Given the description of an element on the screen output the (x, y) to click on. 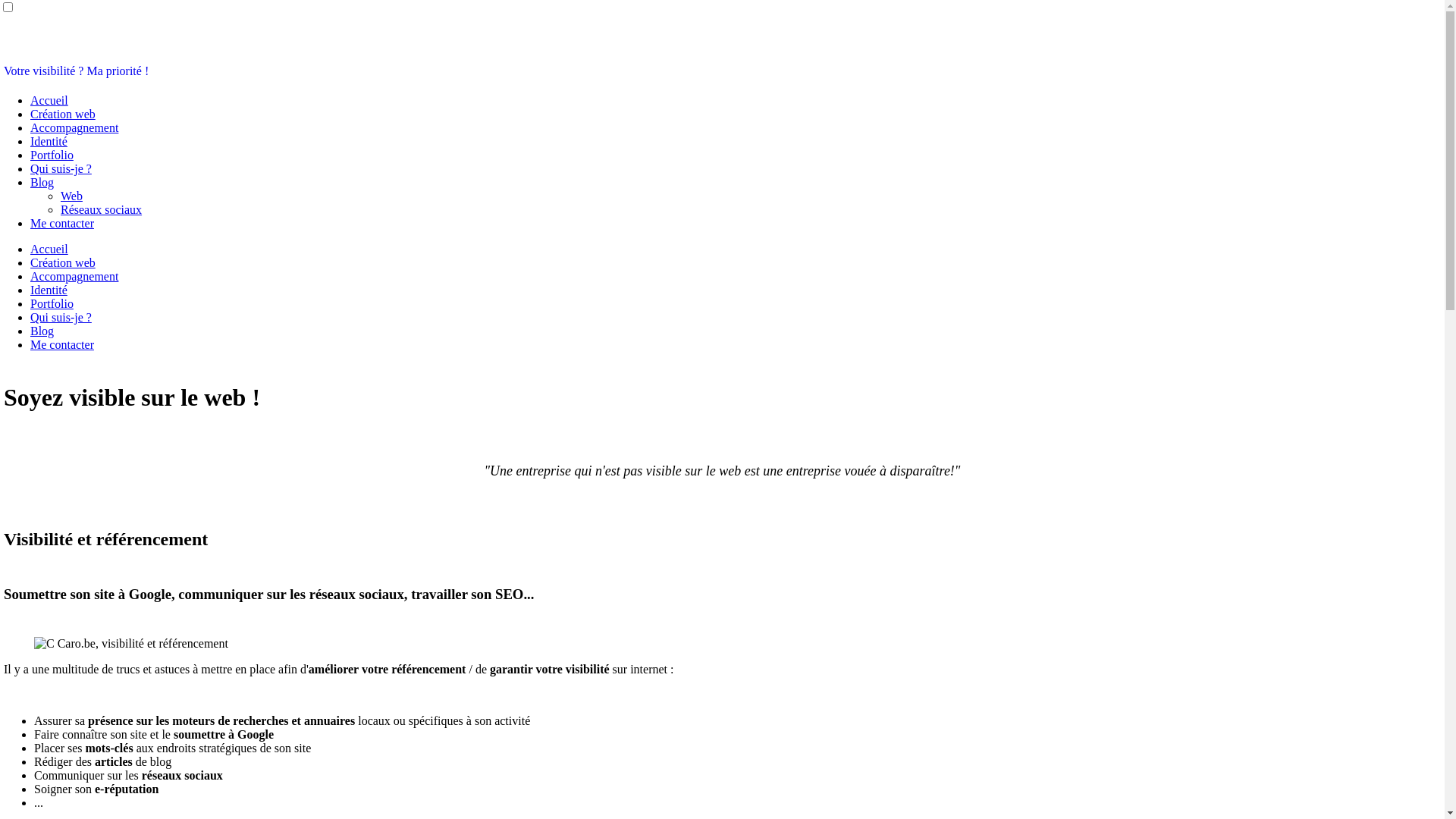
Accompagnement Element type: text (74, 127)
Qui suis-je ? Element type: text (60, 316)
Blog Element type: text (41, 330)
Qui suis-je ? Element type: text (60, 168)
Portfolio Element type: text (51, 303)
Blog Element type: text (41, 181)
Accueil Element type: text (49, 100)
Me contacter Element type: text (62, 344)
Portfolio Element type: text (51, 154)
Me contacter Element type: text (62, 222)
Web Element type: text (71, 195)
Accueil Element type: text (49, 248)
Accompagnement Element type: text (74, 275)
